Given the description of an element on the screen output the (x, y) to click on. 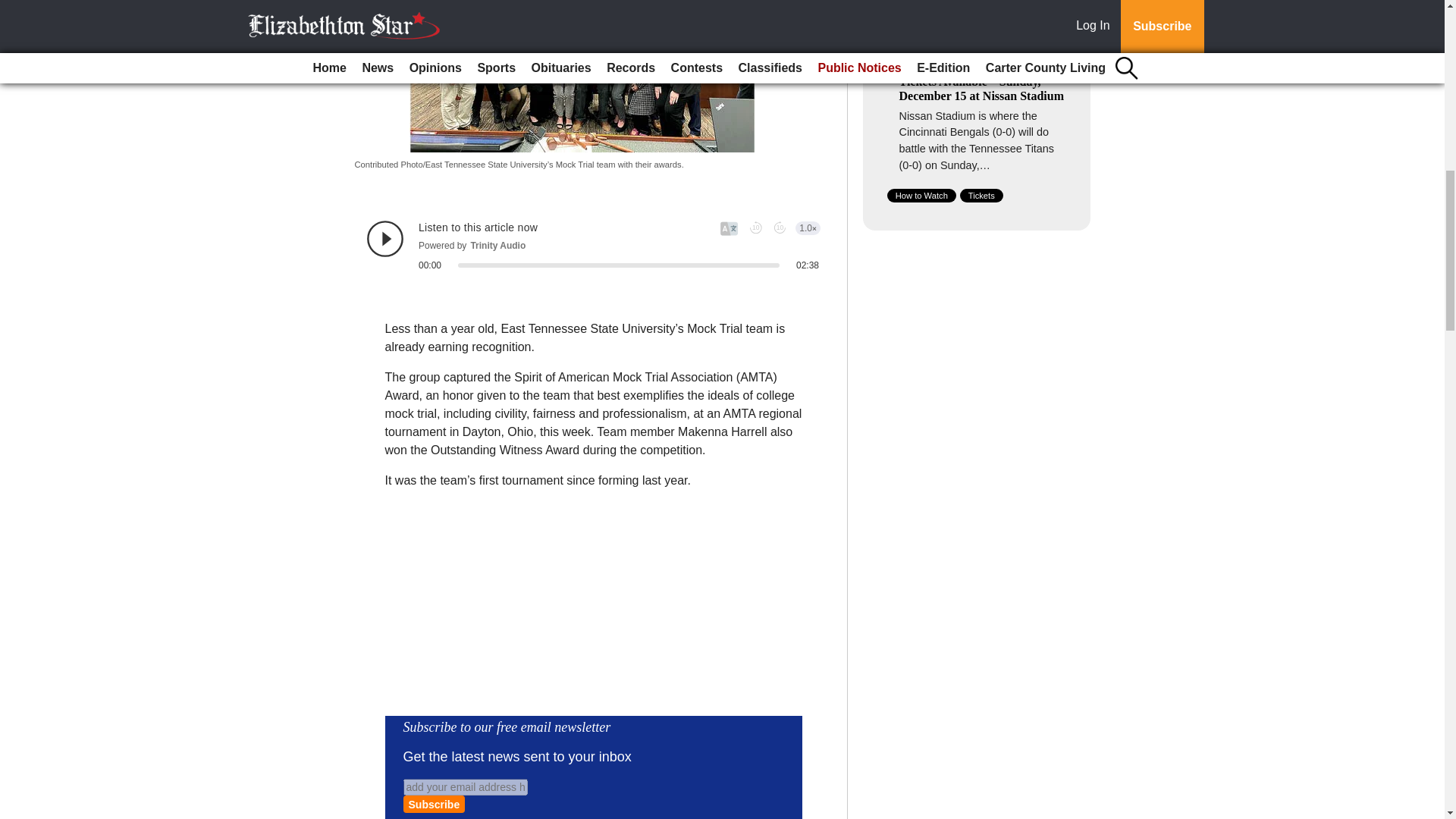
Subscribe (434, 804)
Tickets (981, 195)
Trinity Audio Player (592, 245)
How to Watch (921, 195)
Subscribe (434, 804)
